Given the description of an element on the screen output the (x, y) to click on. 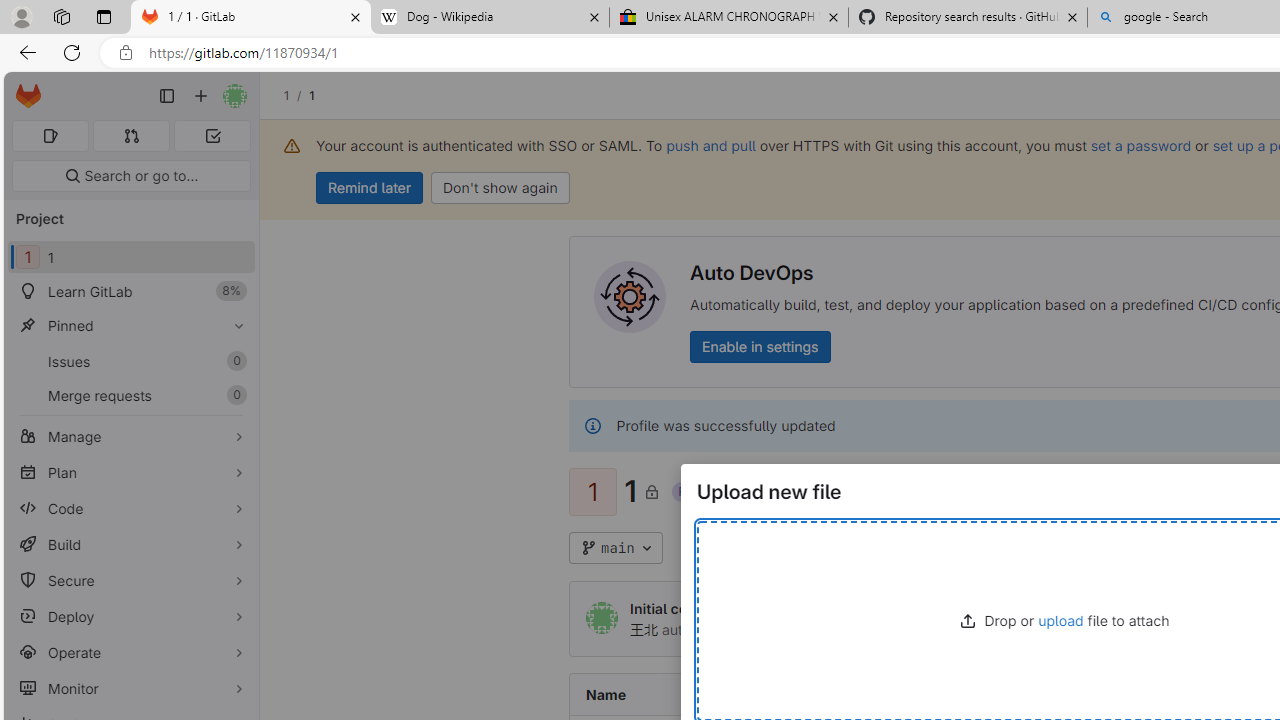
Don't show again (500, 187)
1/ (296, 95)
Secure (130, 579)
Pinned (130, 325)
Build (130, 543)
Add to tree (736, 548)
Last commit (1032, 694)
upload (1061, 620)
Deploy (130, 615)
